Given the description of an element on the screen output the (x, y) to click on. 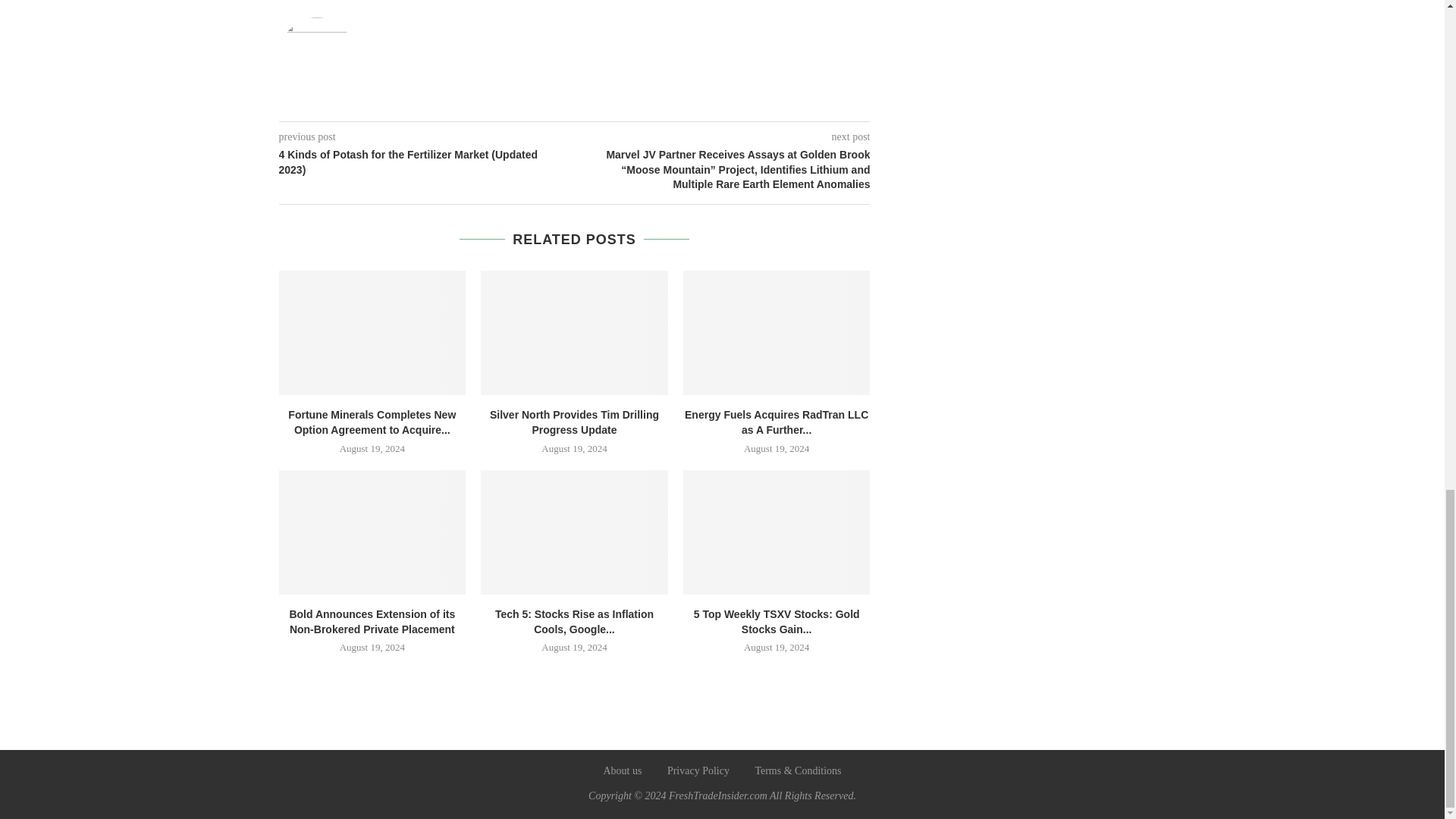
Energy Fuels Acquires RadTran LLC as A Further... (775, 421)
About us (622, 770)
Privacy Policy (697, 770)
Silver North Provides Tim Drilling Progress Update (574, 421)
Tech 5: Stocks Rise as Inflation Cools, Google... (574, 621)
